Given the description of an element on the screen output the (x, y) to click on. 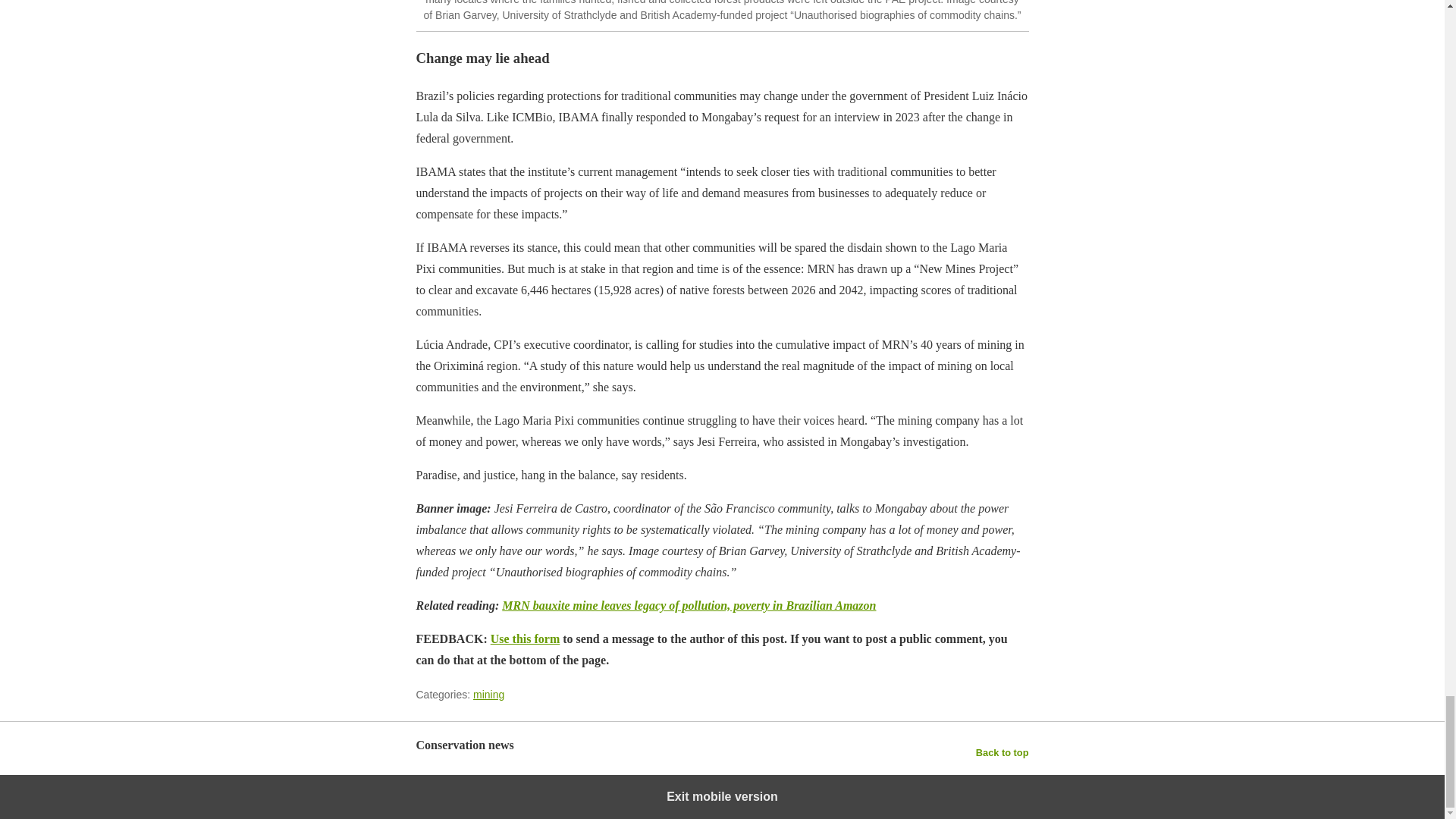
Back to top (1002, 752)
mining (488, 694)
Use this form (525, 638)
